Given the description of an element on the screen output the (x, y) to click on. 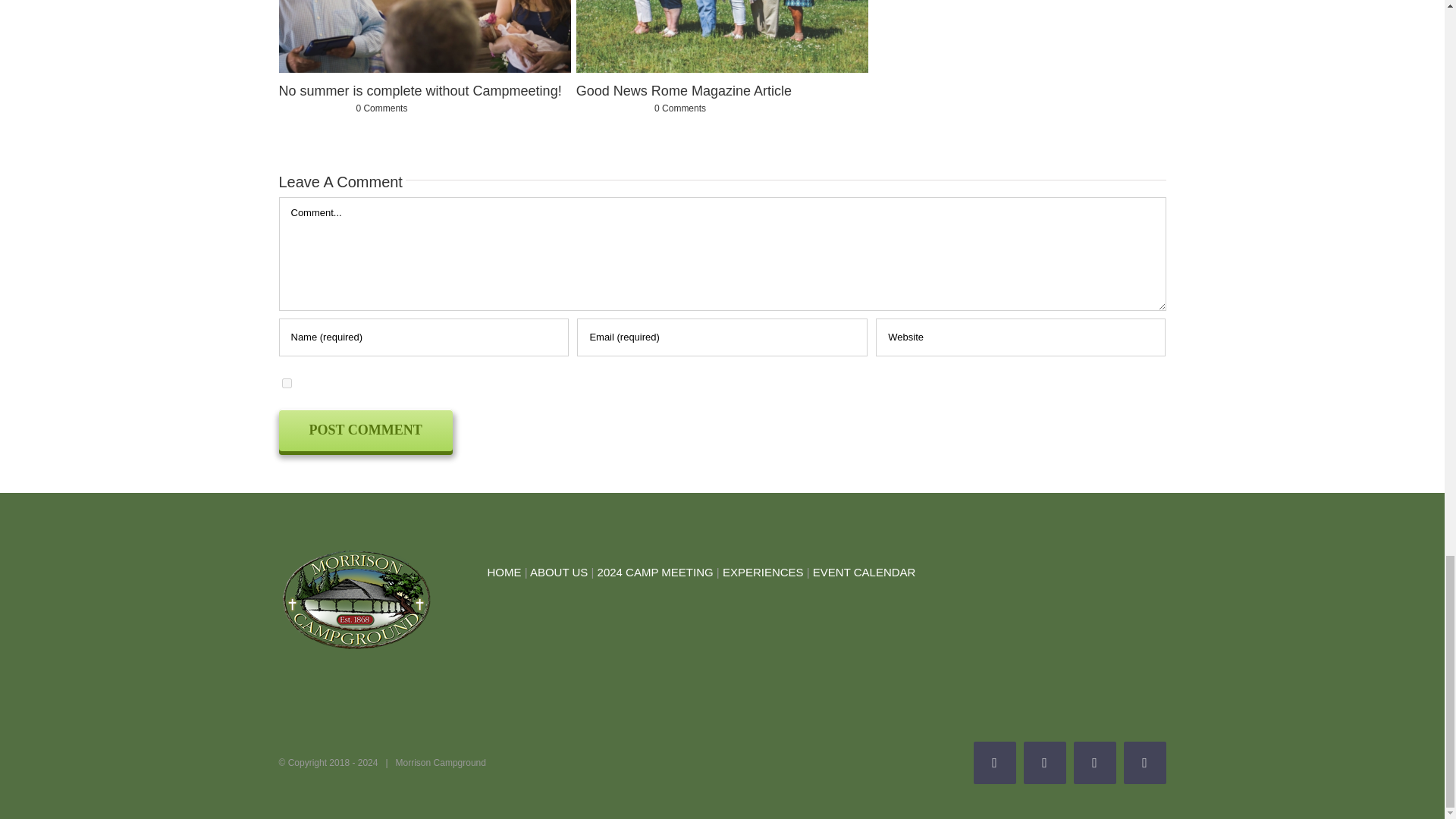
Post Comment (365, 430)
yes (287, 383)
Good News Rome Magazine Article (684, 90)
No summer is complete without Campmeeting! (420, 90)
